Given the description of an element on the screen output the (x, y) to click on. 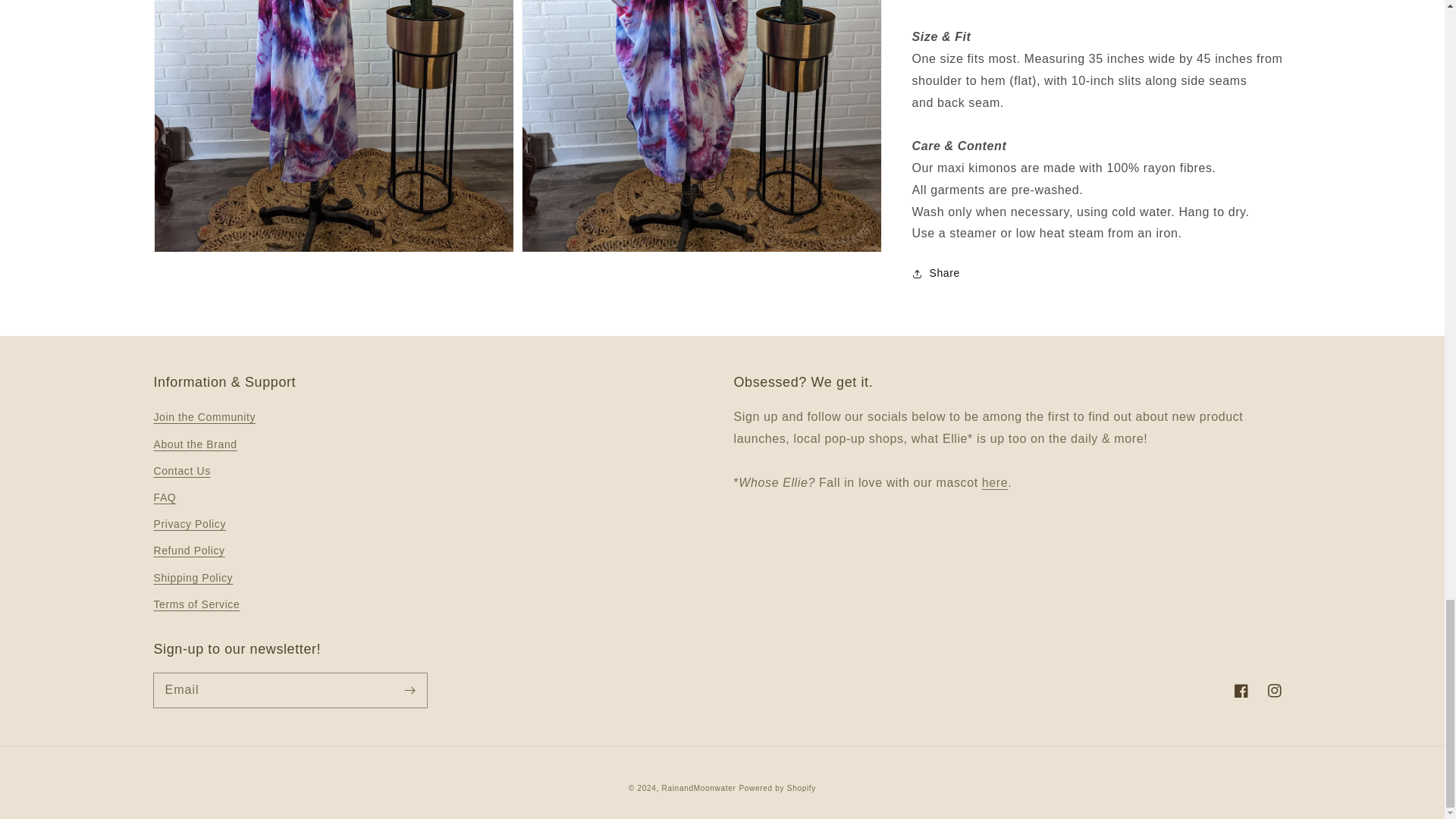
Open media 5 in gallery view (700, 125)
About the Brand (994, 481)
Open media 4 in gallery view (333, 125)
